Given the description of an element on the screen output the (x, y) to click on. 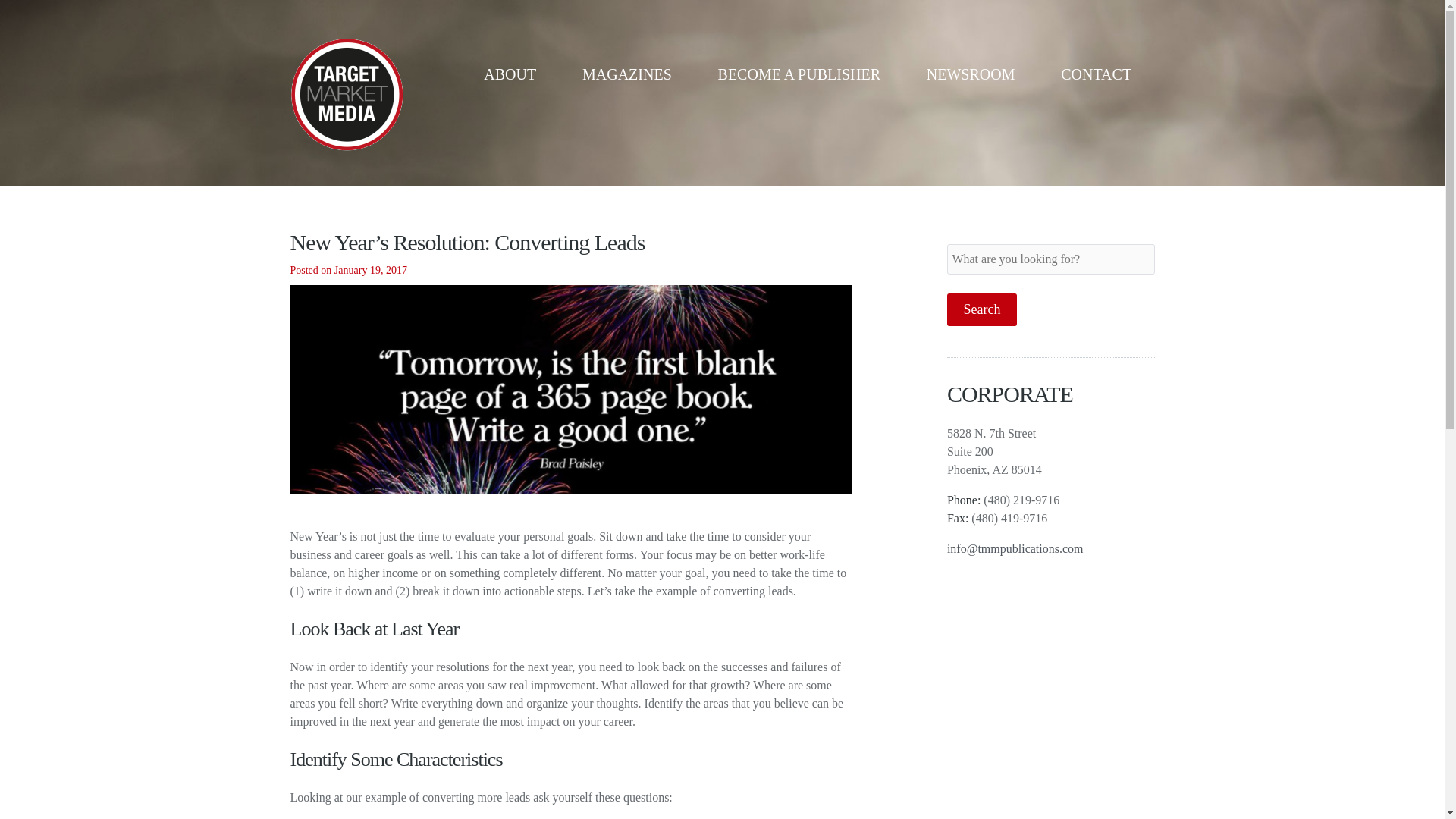
CONTACT (1096, 73)
ABOUT (509, 73)
MAGAZINES (627, 73)
Search (981, 309)
BECOME A PUBLISHER (799, 73)
NEWSROOM (970, 73)
Search (981, 309)
Lead Action (570, 389)
